Given the description of an element on the screen output the (x, y) to click on. 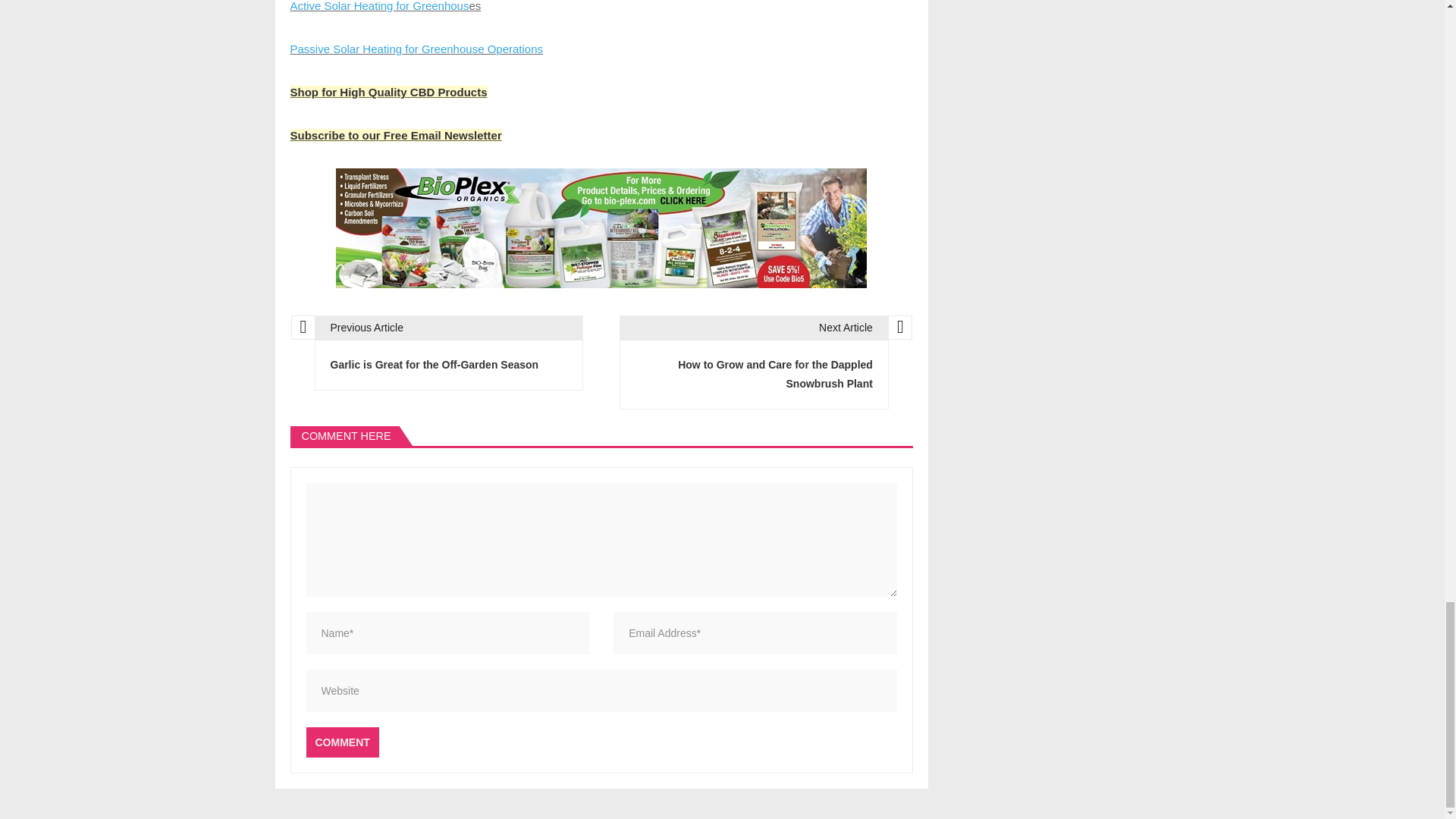
Comment (341, 742)
